Given the description of an element on the screen output the (x, y) to click on. 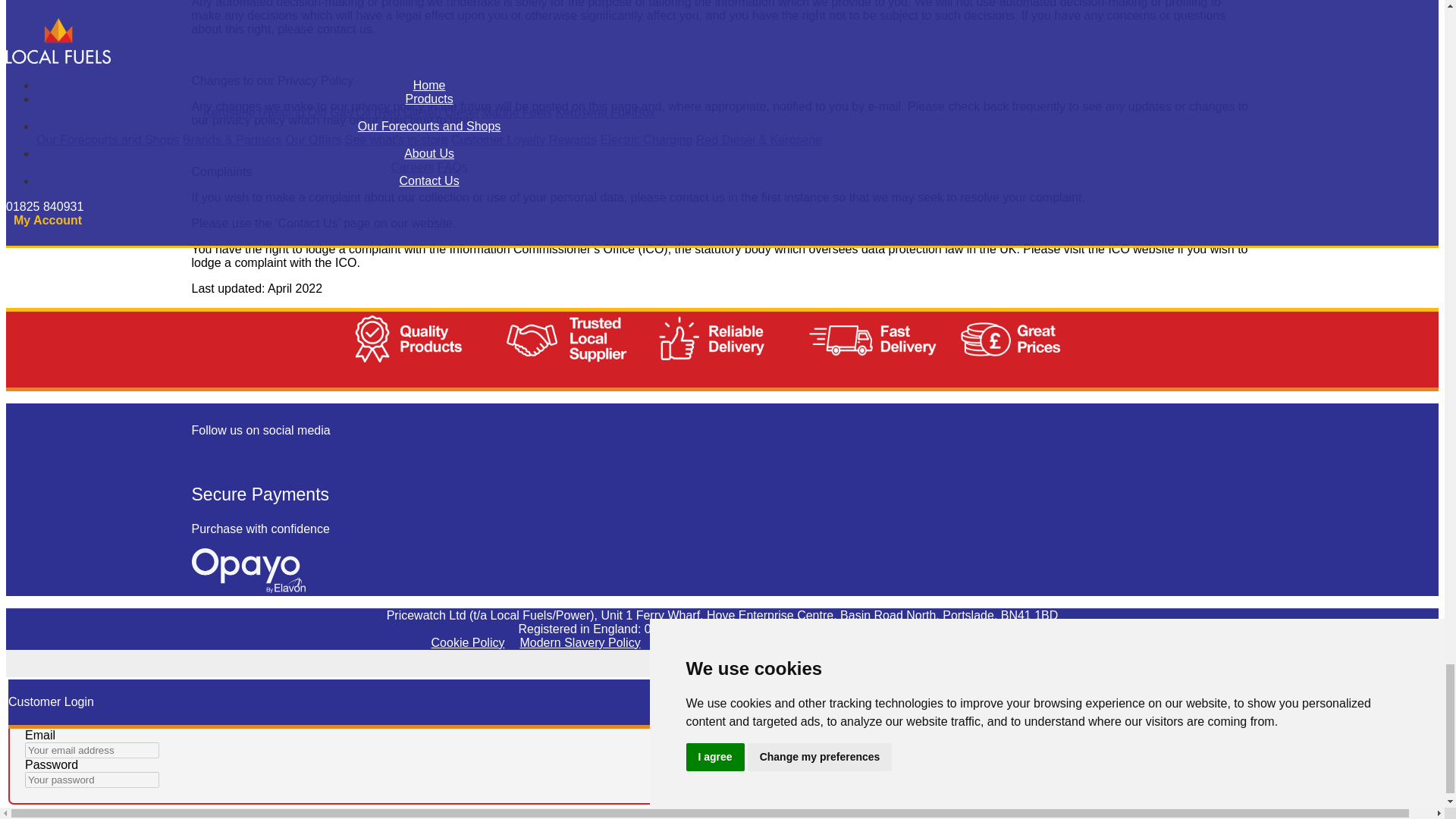
Our Offers (683, 641)
Instagram (235, 454)
Facebook (198, 454)
LinkedIn (254, 454)
Modern Slavery Policy (579, 641)
Website By Economedia (721, 668)
Privacy Policy (885, 641)
Contact Us (967, 641)
Google (217, 454)
Cookie Policy (467, 641)
